Given the description of an element on the screen output the (x, y) to click on. 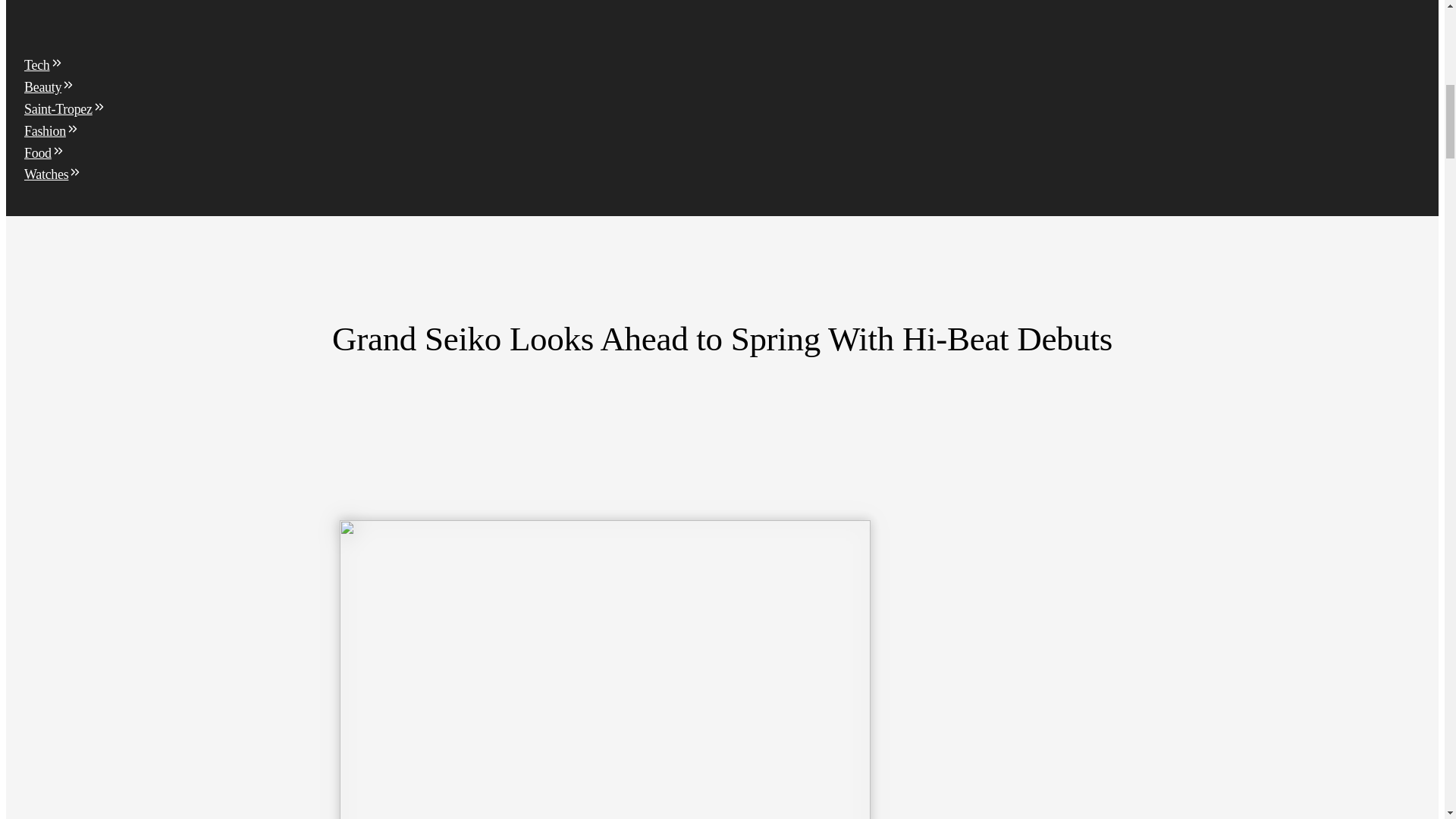
Fashion (52, 130)
Watches (52, 174)
Beauty (49, 87)
Saint-Tropez (65, 109)
Tech (44, 64)
Food (44, 152)
